Given the description of an element on the screen output the (x, y) to click on. 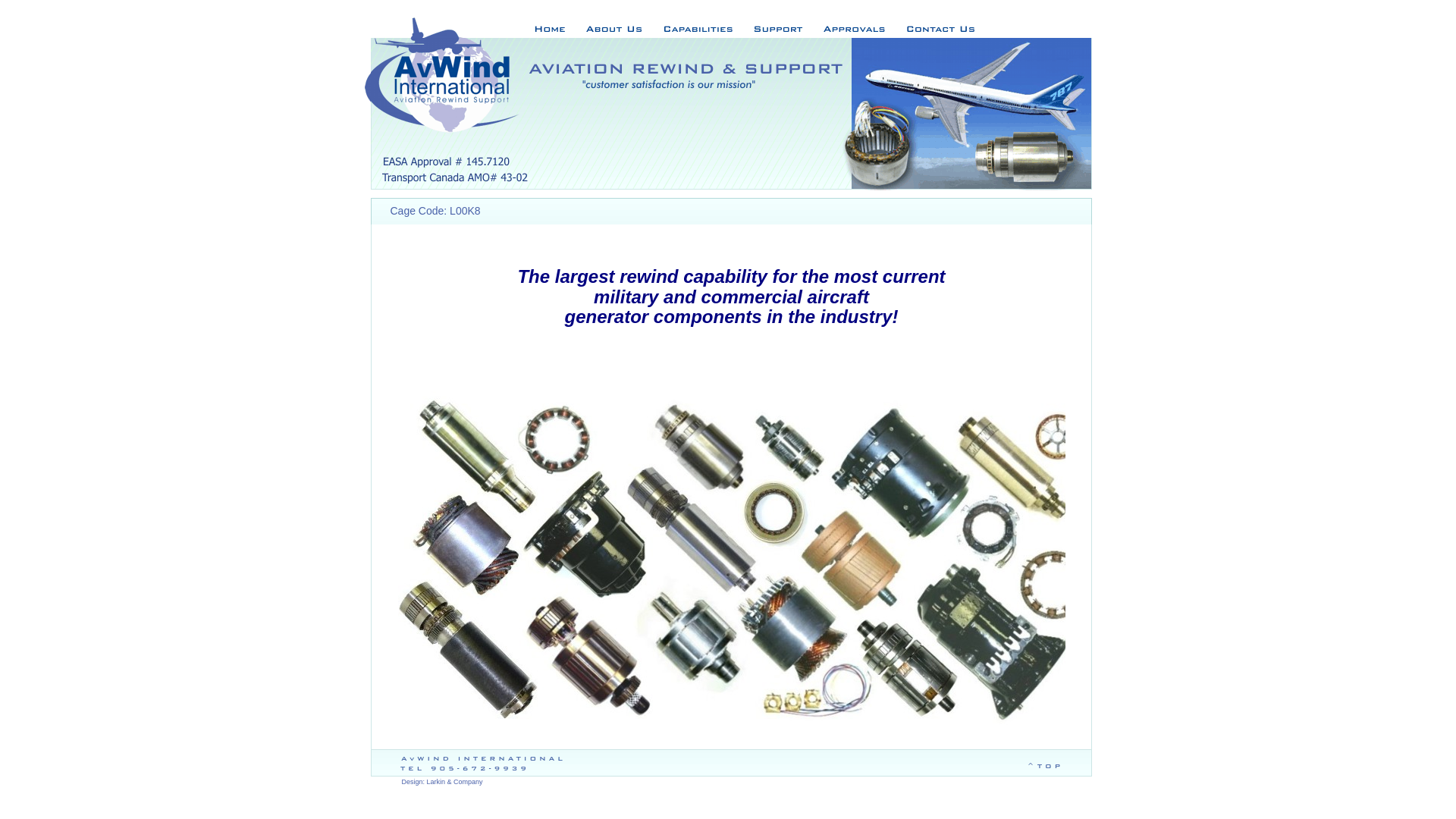
Design: Larkin & Company Element type: text (442, 781)
